Given the description of an element on the screen output the (x, y) to click on. 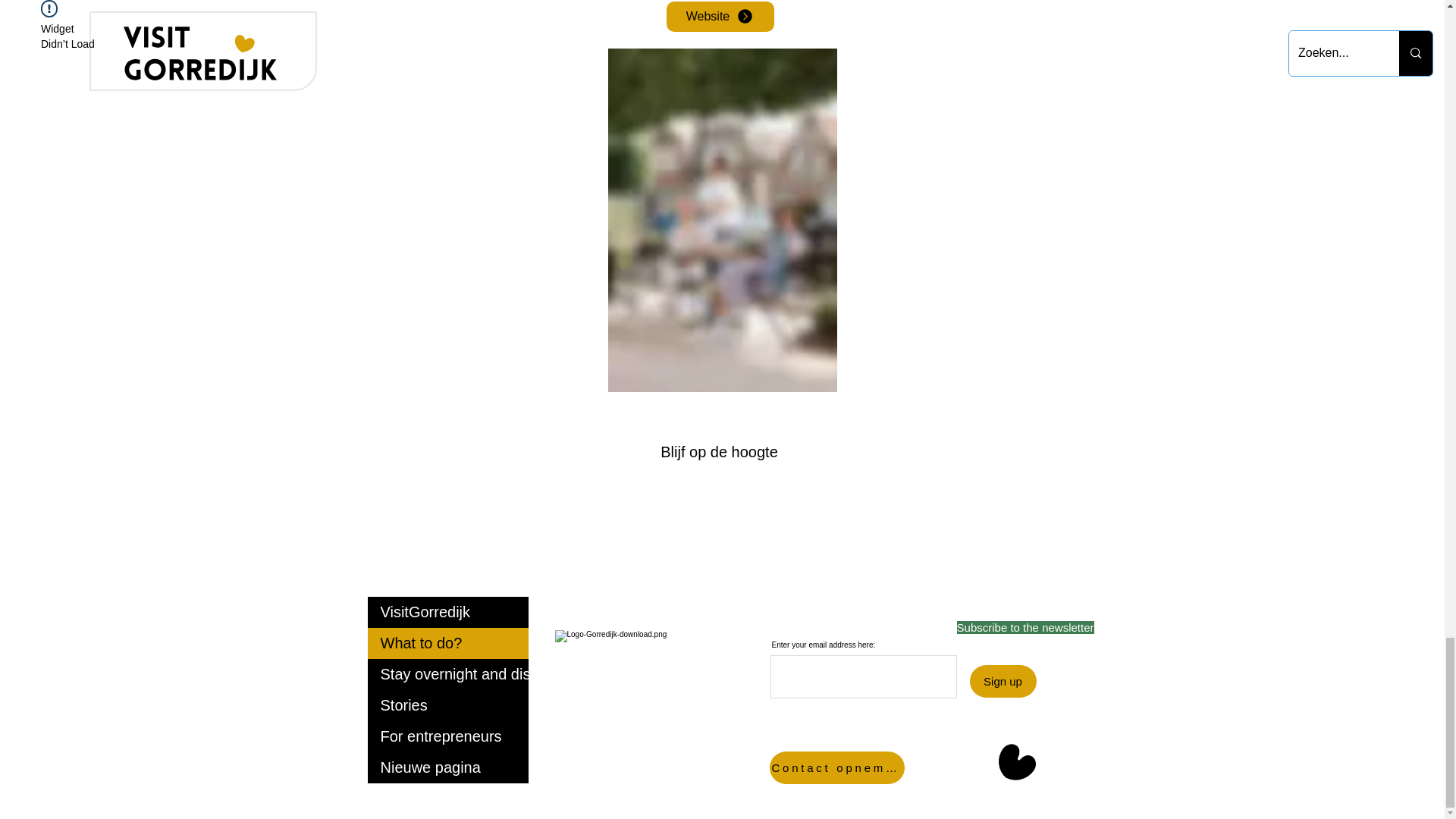
Sign up (1002, 681)
For entrepreneurs (446, 736)
Contact opnemen (836, 767)
Stay overnight and discover the area (446, 674)
Stories (446, 705)
Website (719, 16)
What to do? (446, 643)
VisitGorredijk (446, 612)
Nieuwe pagina (446, 767)
